Given the description of an element on the screen output the (x, y) to click on. 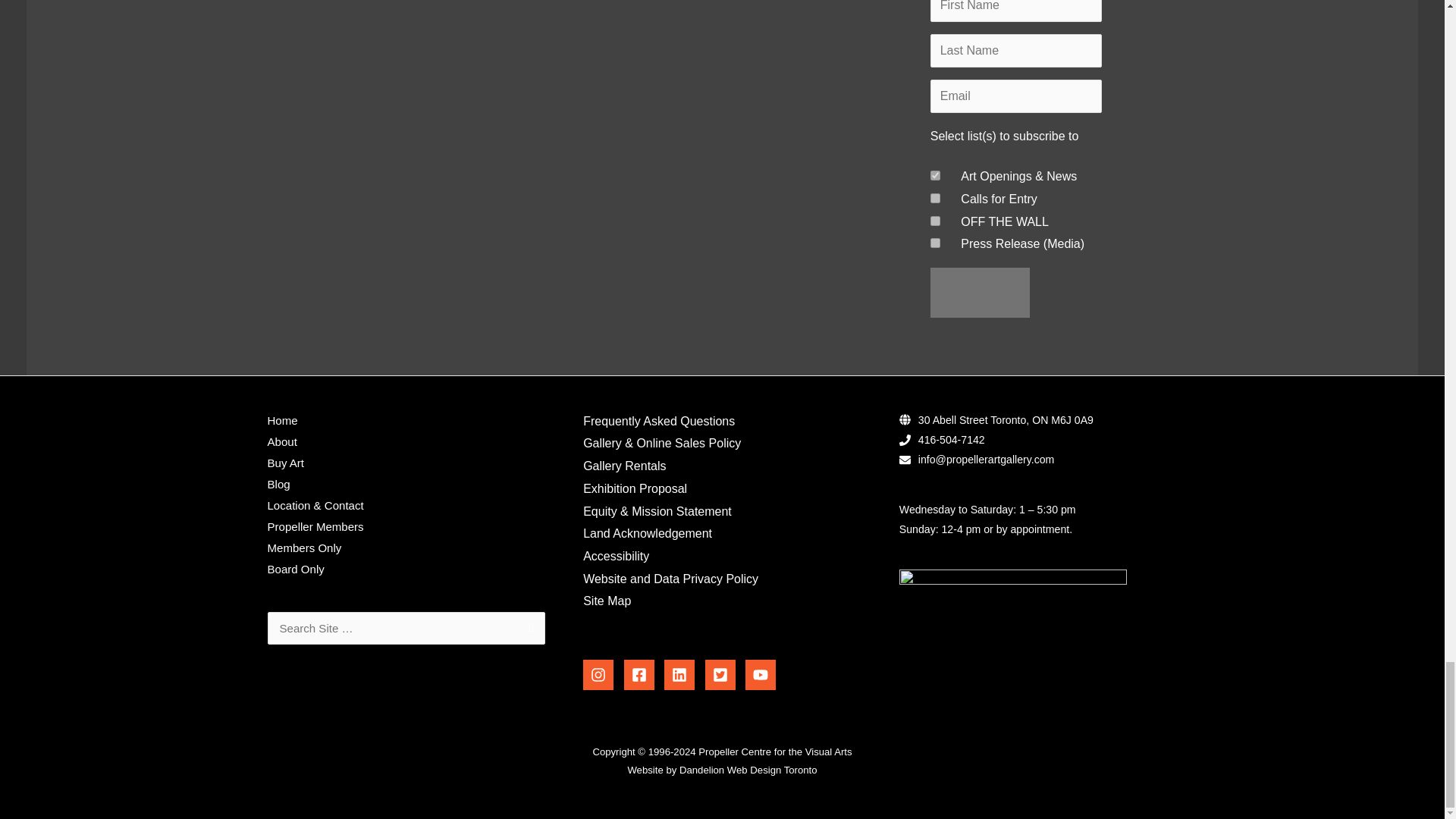
8d19ff74-b3b5-11ed-9391-fa163e13150e (935, 243)
Subscribe (979, 292)
3d68077c-afbf-11ed-b17a-fa163e13150e (935, 198)
4ea38d90-afbf-11ed-8ac9-fa163e72f71d (935, 221)
ee13daac-aee2-11ed-b70e-fa163e56233d (935, 175)
